Given the description of an element on the screen output the (x, y) to click on. 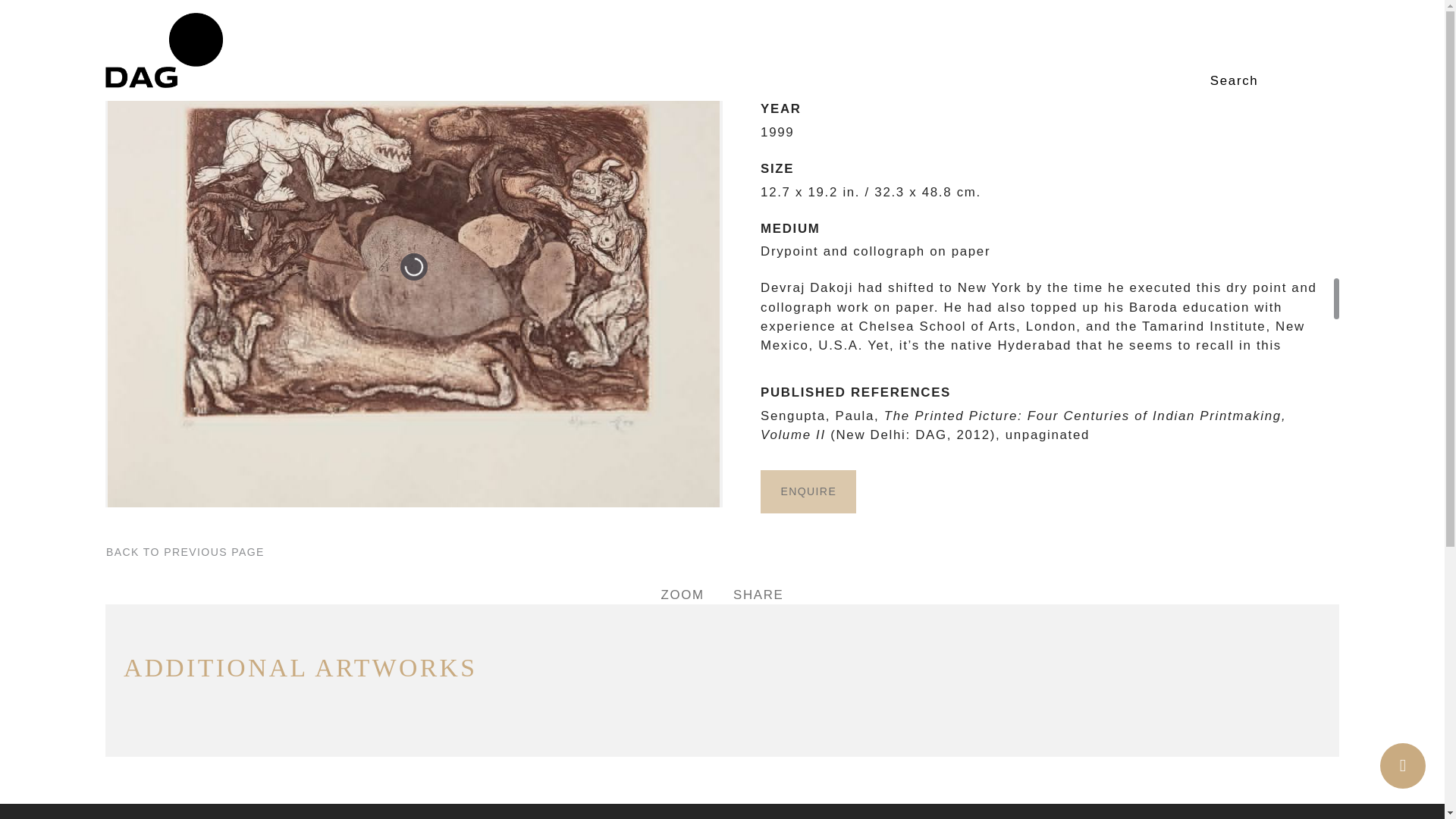
Search (1243, 81)
ENQUIRE (808, 491)
